Given the description of an element on the screen output the (x, y) to click on. 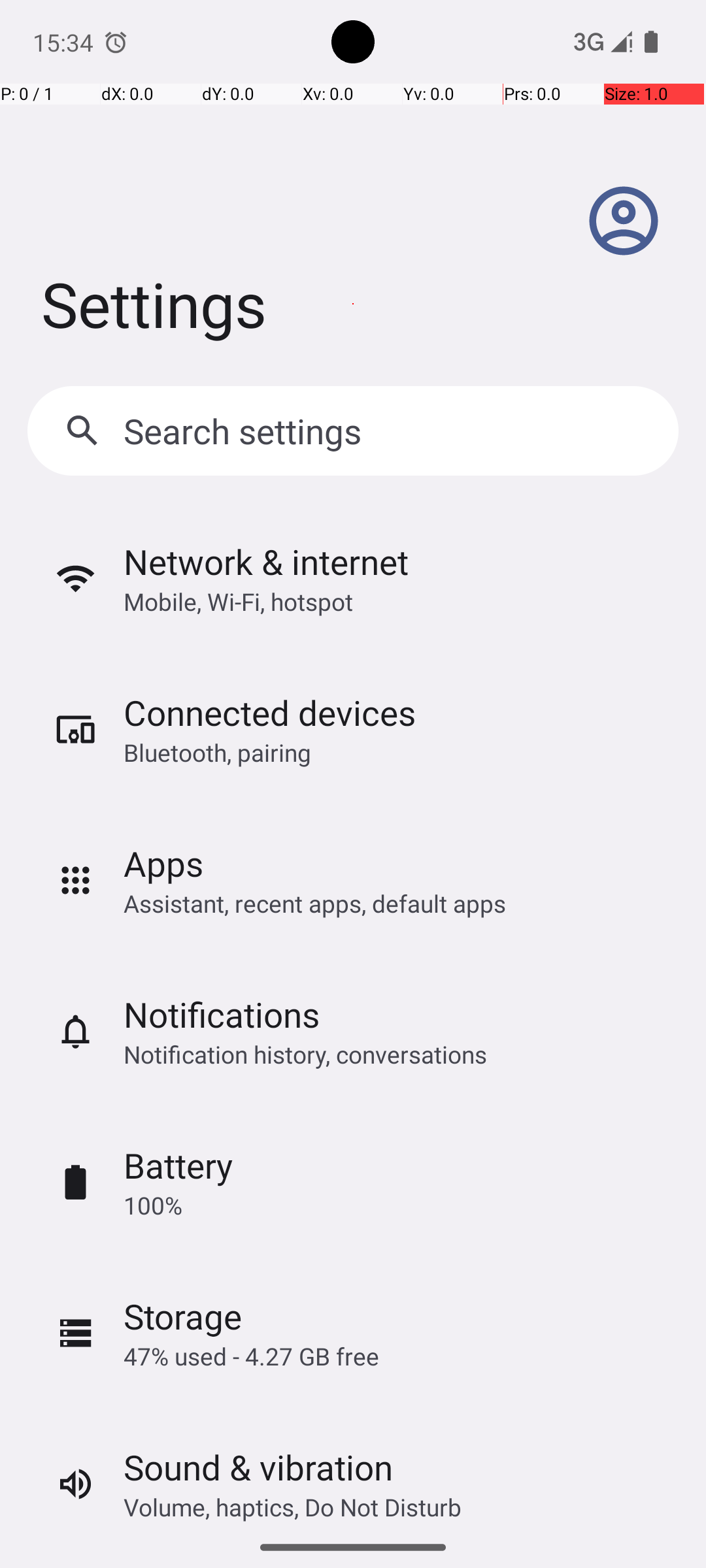
47% used - 4.27 GB free Element type: android.widget.TextView (251, 1355)
